Given the description of an element on the screen output the (x, y) to click on. 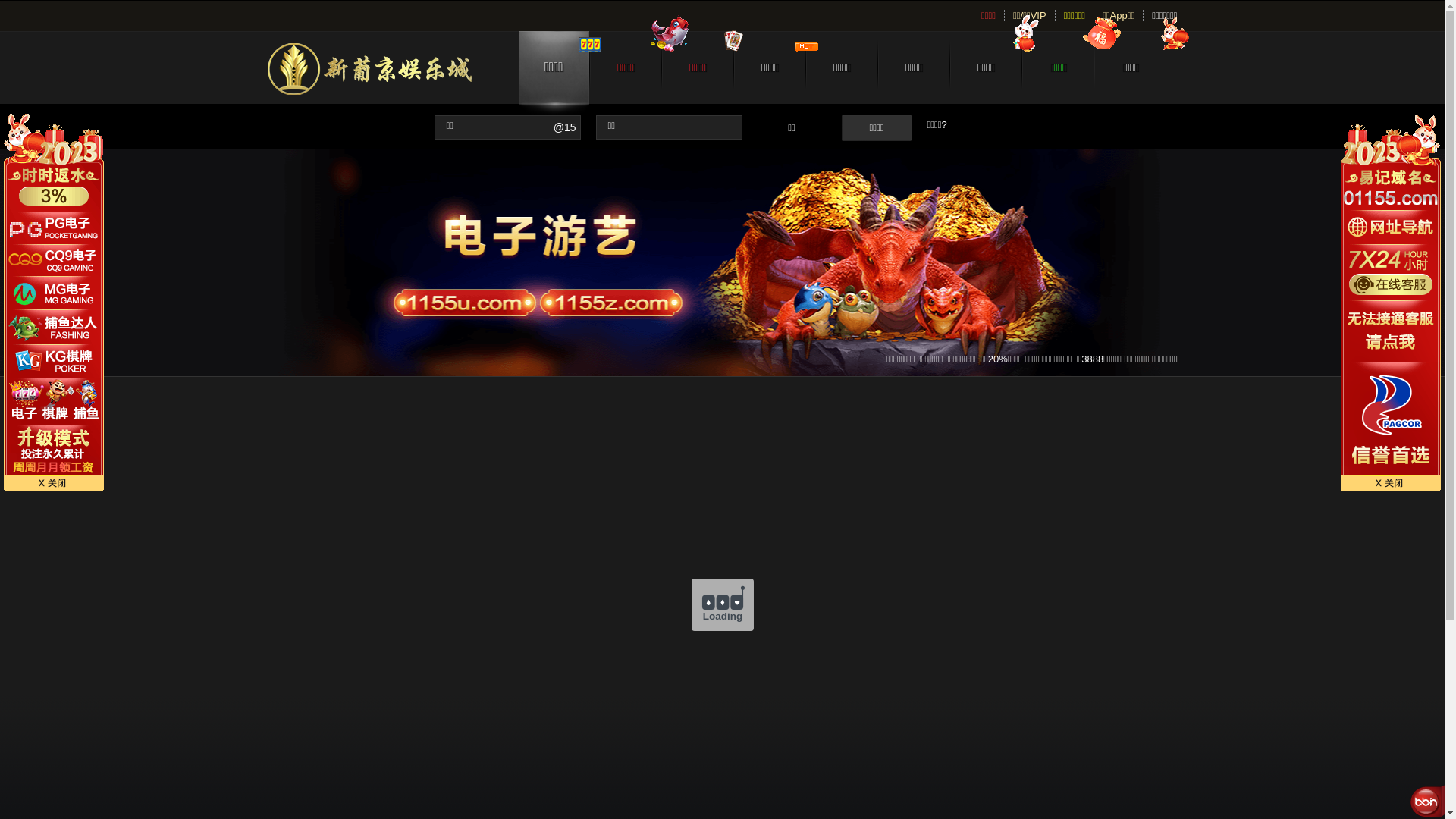
English Element type: hover (320, 15)
